Given the description of an element on the screen output the (x, y) to click on. 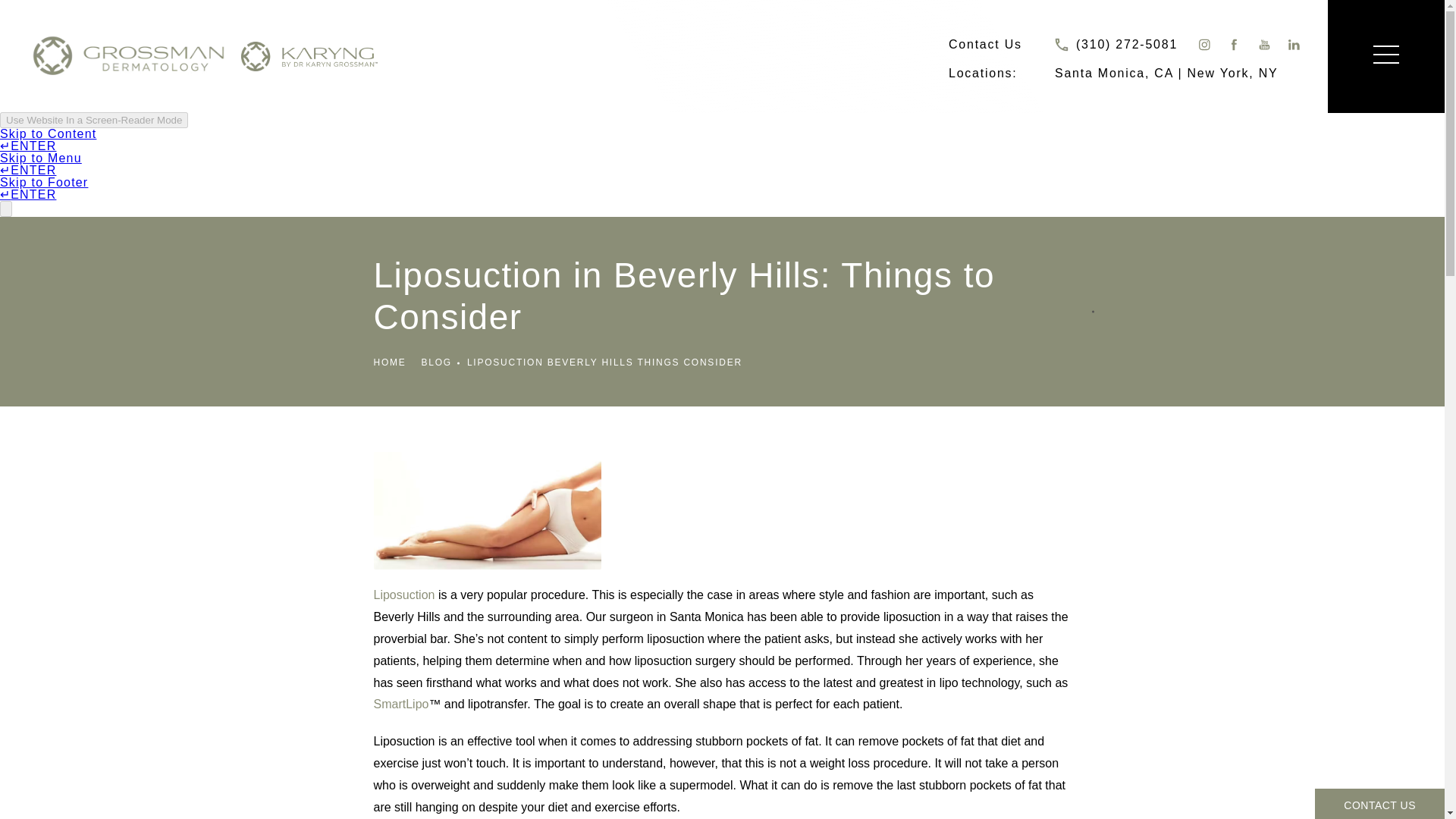
Grossman Dermatology on Youtube (1264, 44)
Grossman Dermatology on Linkedin (1295, 44)
Grossman Dermatology on Facebook (1233, 44)
Grossman Dermatology on Instagram (1203, 44)
Contact Us (985, 43)
